Given the description of an element on the screen output the (x, y) to click on. 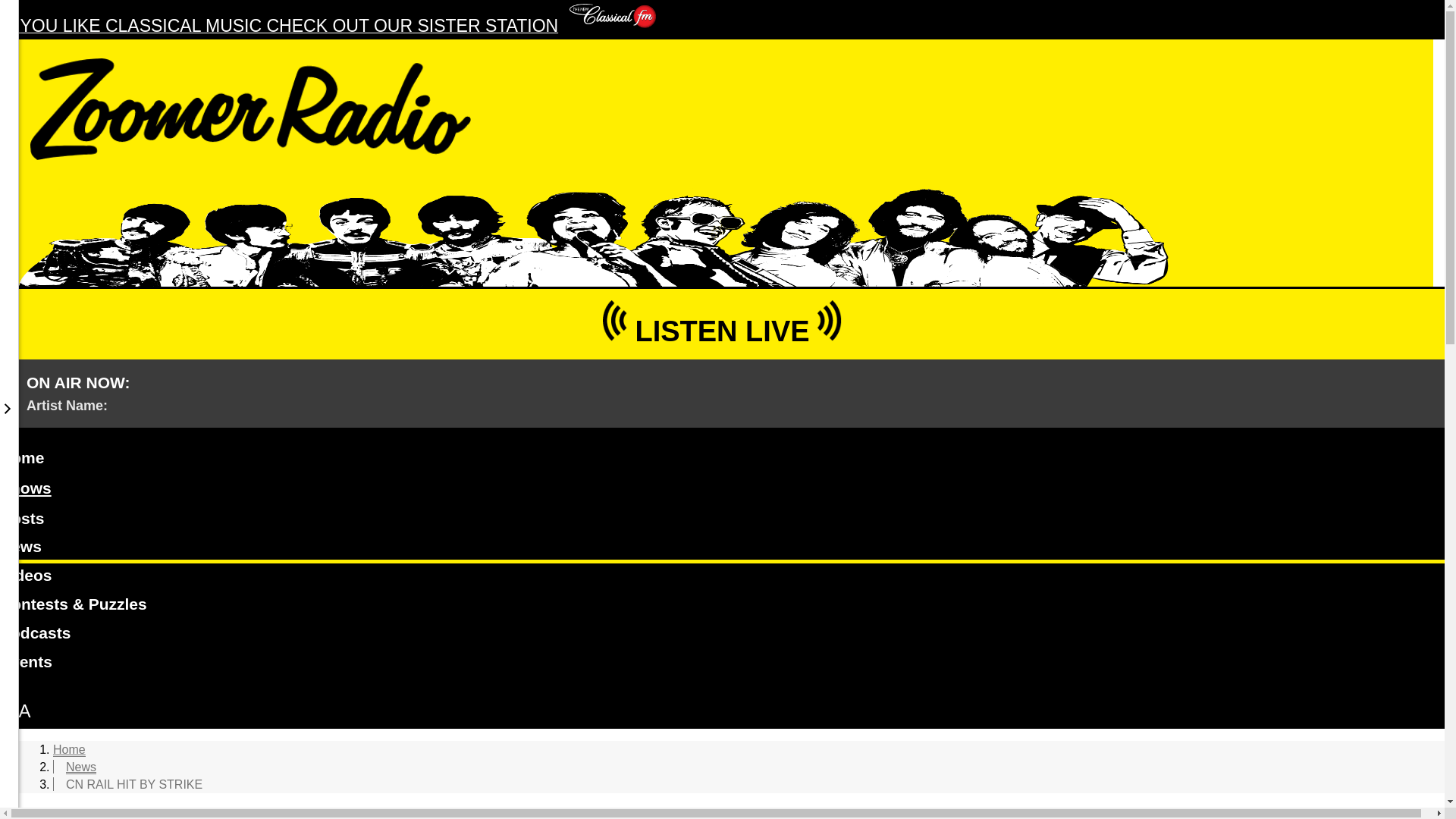
Videos (722, 577)
LISTEN LIVE (722, 322)
Home (722, 460)
Hosts (722, 520)
Podcasts (722, 635)
News (80, 766)
News (722, 548)
Shows (25, 488)
Events (722, 664)
Home (68, 749)
